Given the description of an element on the screen output the (x, y) to click on. 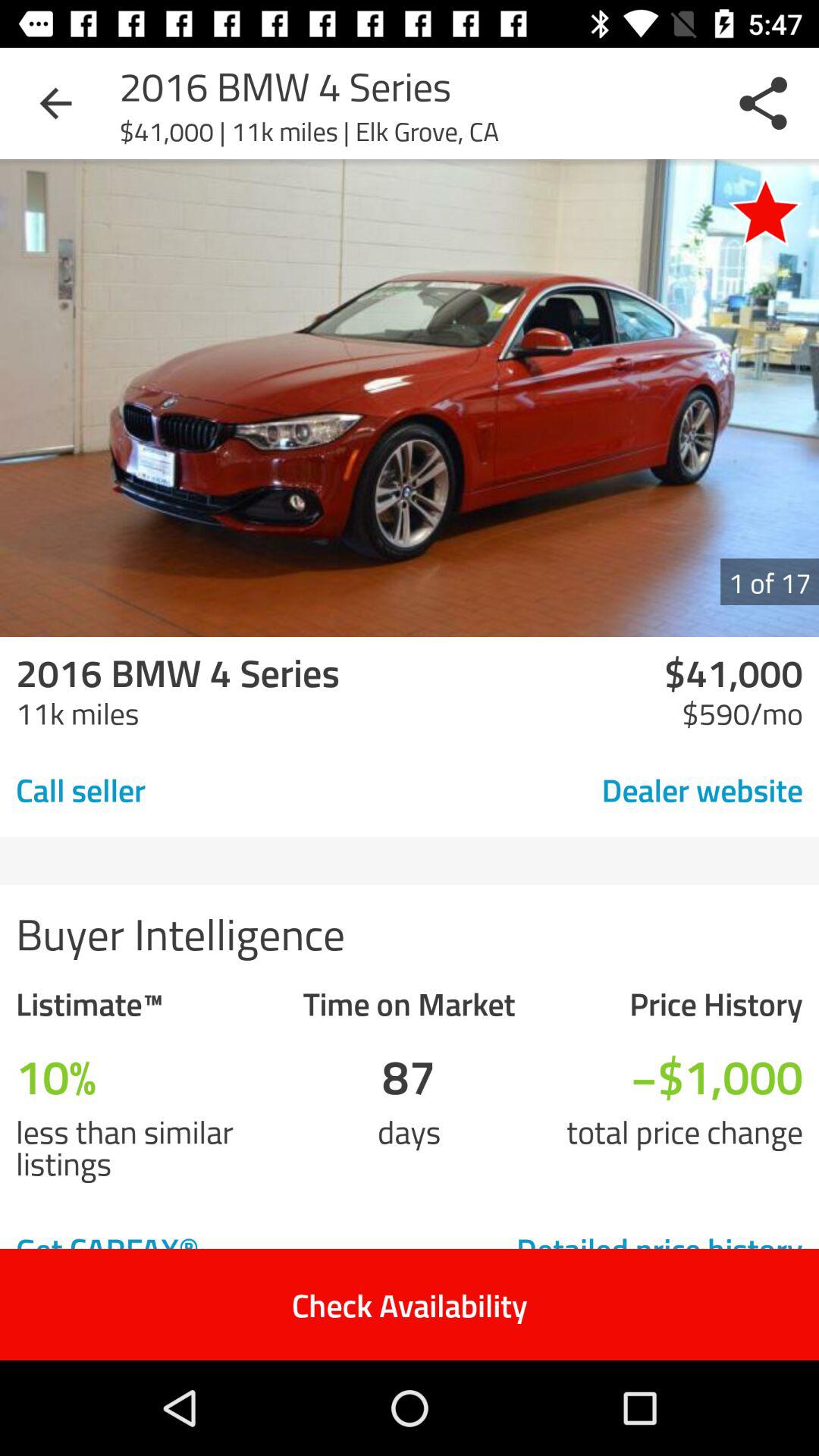
press item to the left of the dealer website icon (186, 789)
